Given the description of an element on the screen output the (x, y) to click on. 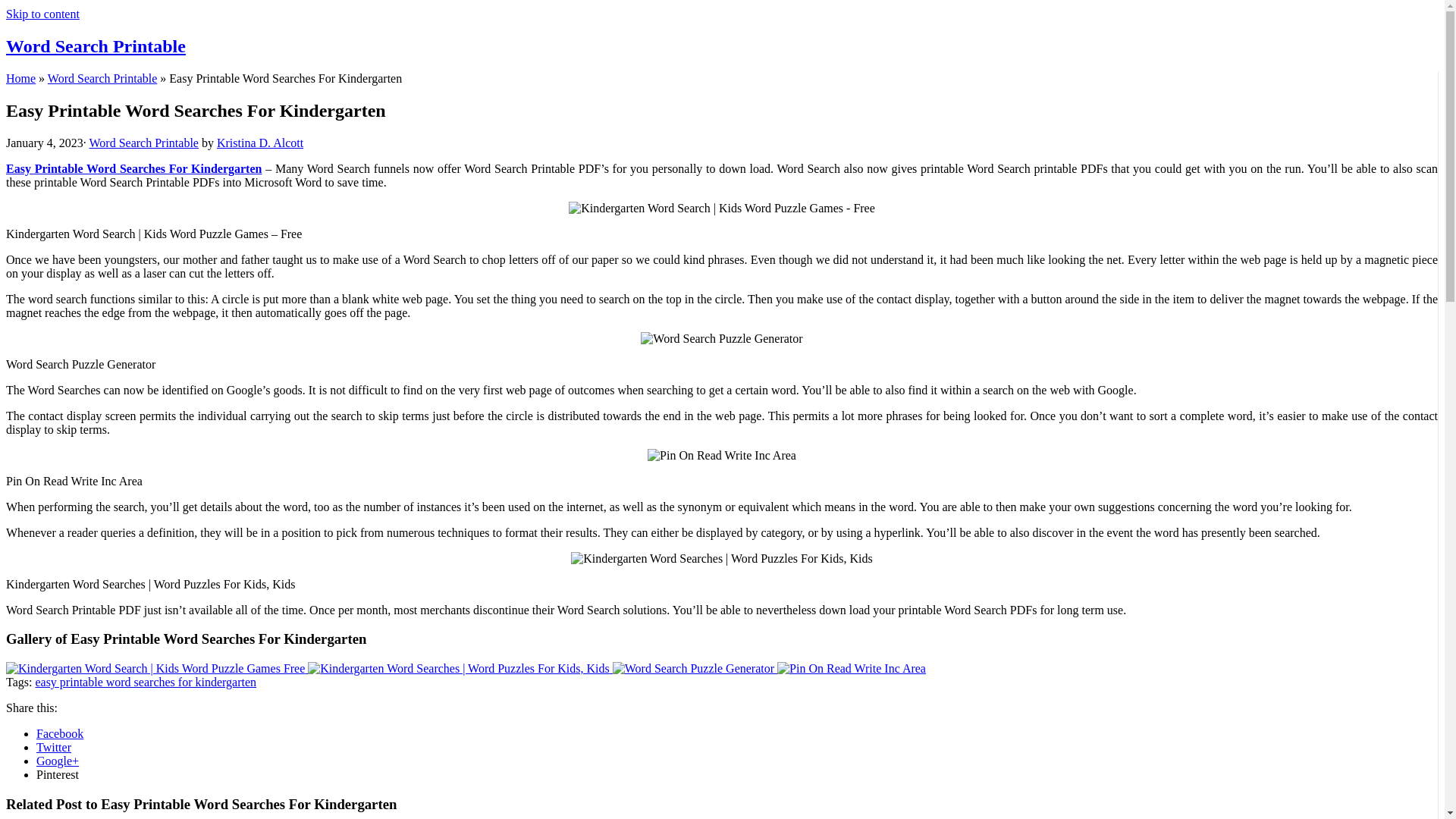
Home (19, 78)
Word Search Printable (102, 78)
easy printable word searches for kindergarten (145, 681)
Skip to content (42, 13)
Pin On Read Write Inc Area (851, 668)
pin on read write inc area (721, 455)
Pinterest (57, 774)
Twitter (53, 747)
Pin On Read Write Inc Area (851, 667)
kindergarten word searches word puzzles for kids kids (721, 558)
